Given the description of an element on the screen output the (x, y) to click on. 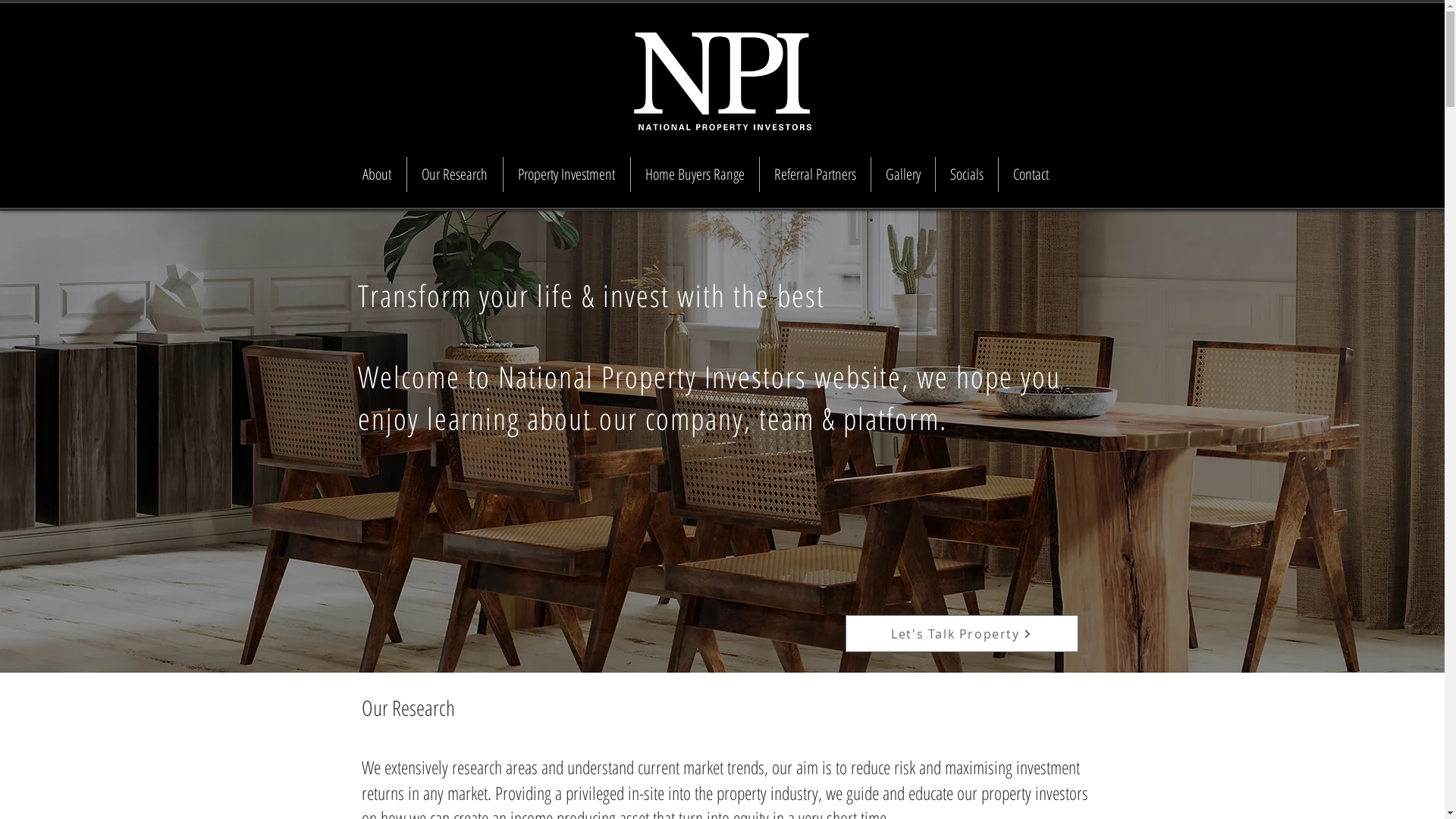
Socials Element type: text (965, 173)
Home Buyers Range Element type: text (693, 173)
About Element type: text (376, 173)
Let's Talk Property Element type: text (960, 633)
Property Investment Element type: text (565, 173)
Contact Element type: text (1030, 173)
Our Research Element type: text (454, 173)
Referral Partners Element type: text (813, 173)
Gallery Element type: text (902, 173)
